Given the description of an element on the screen output the (x, y) to click on. 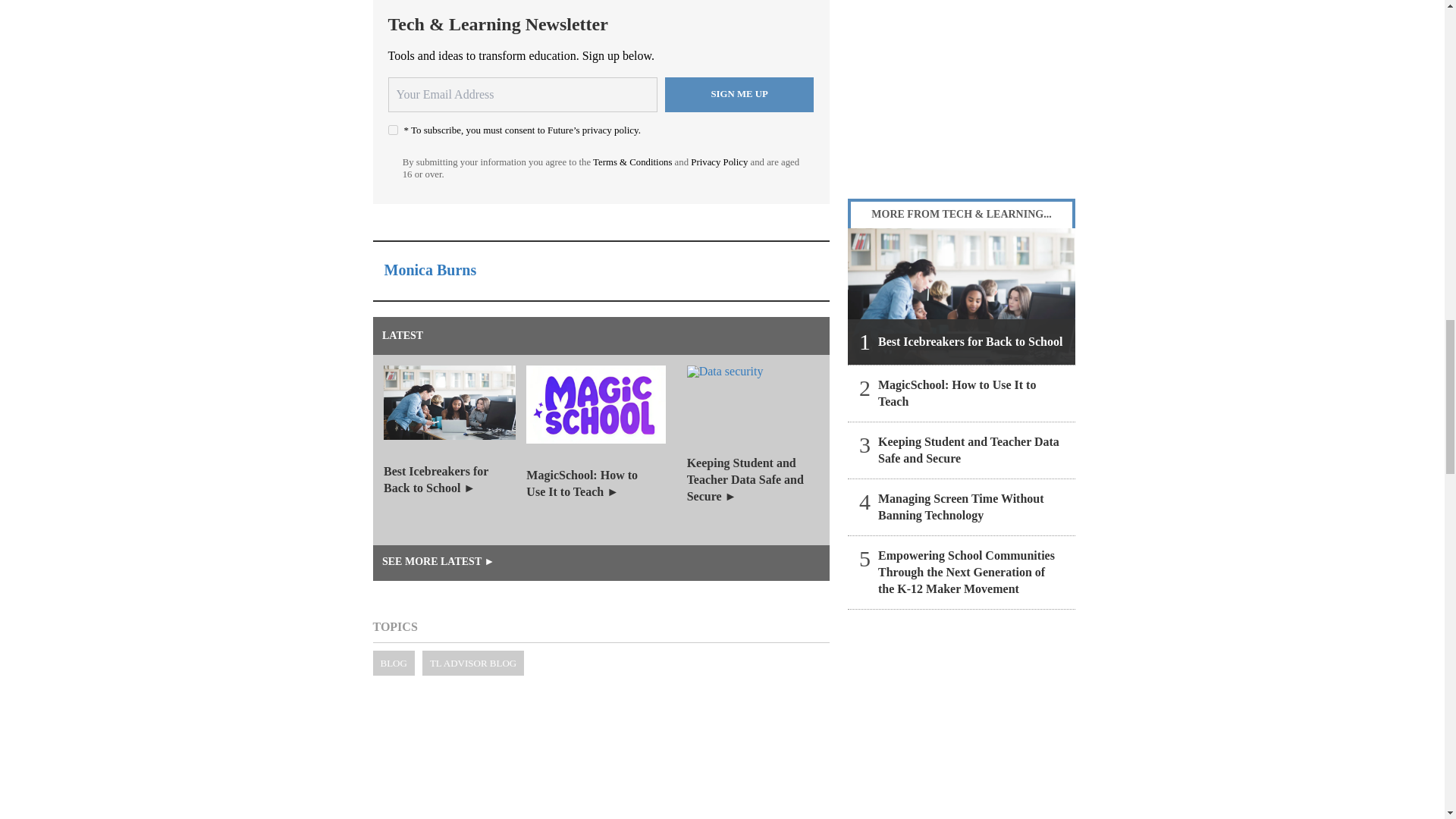
Sign me up (739, 94)
on (392, 130)
Best Icebreakers for Back to School  (961, 296)
